Given the description of an element on the screen output the (x, y) to click on. 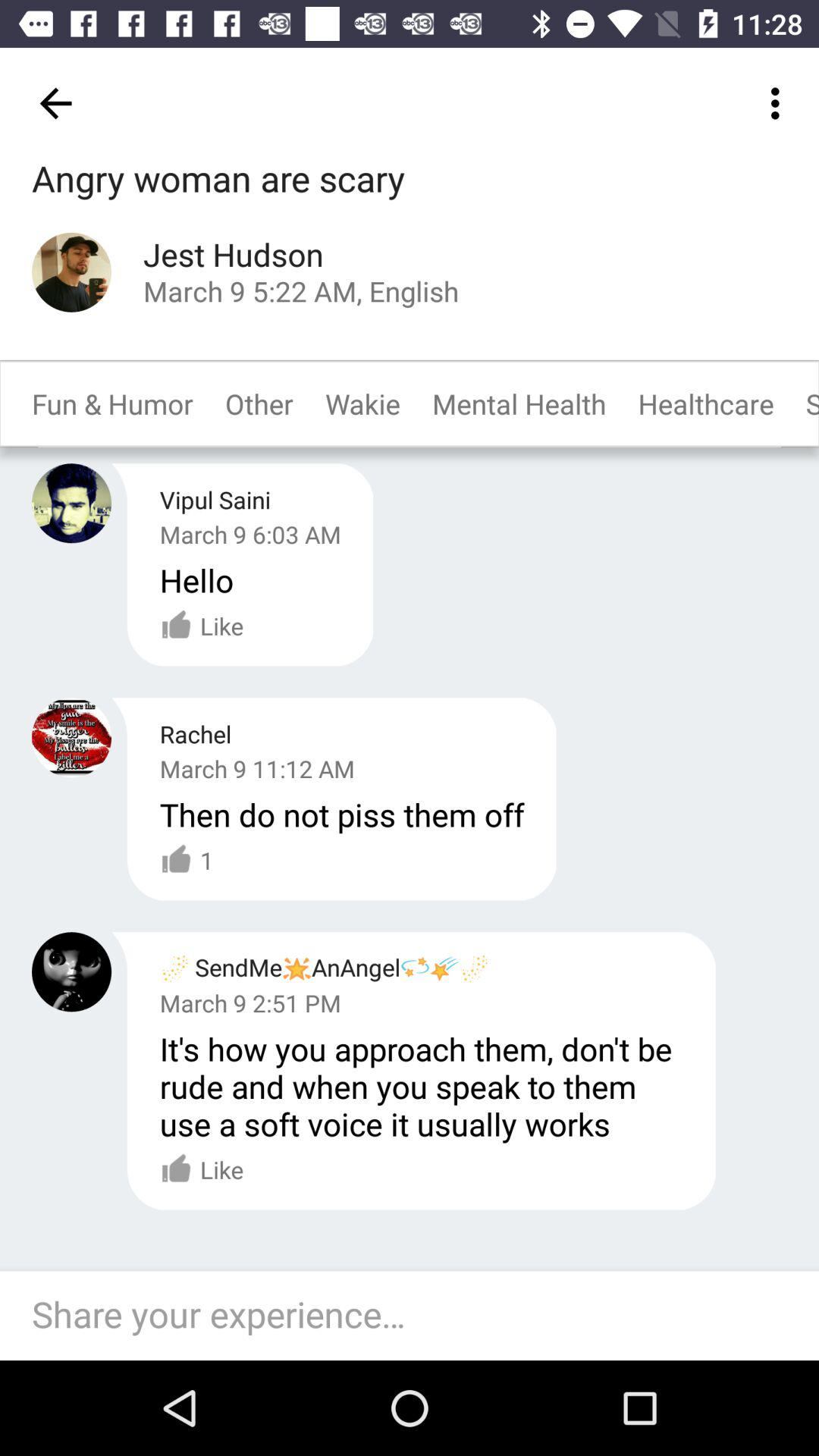
profile photo (71, 272)
